Given the description of an element on the screen output the (x, y) to click on. 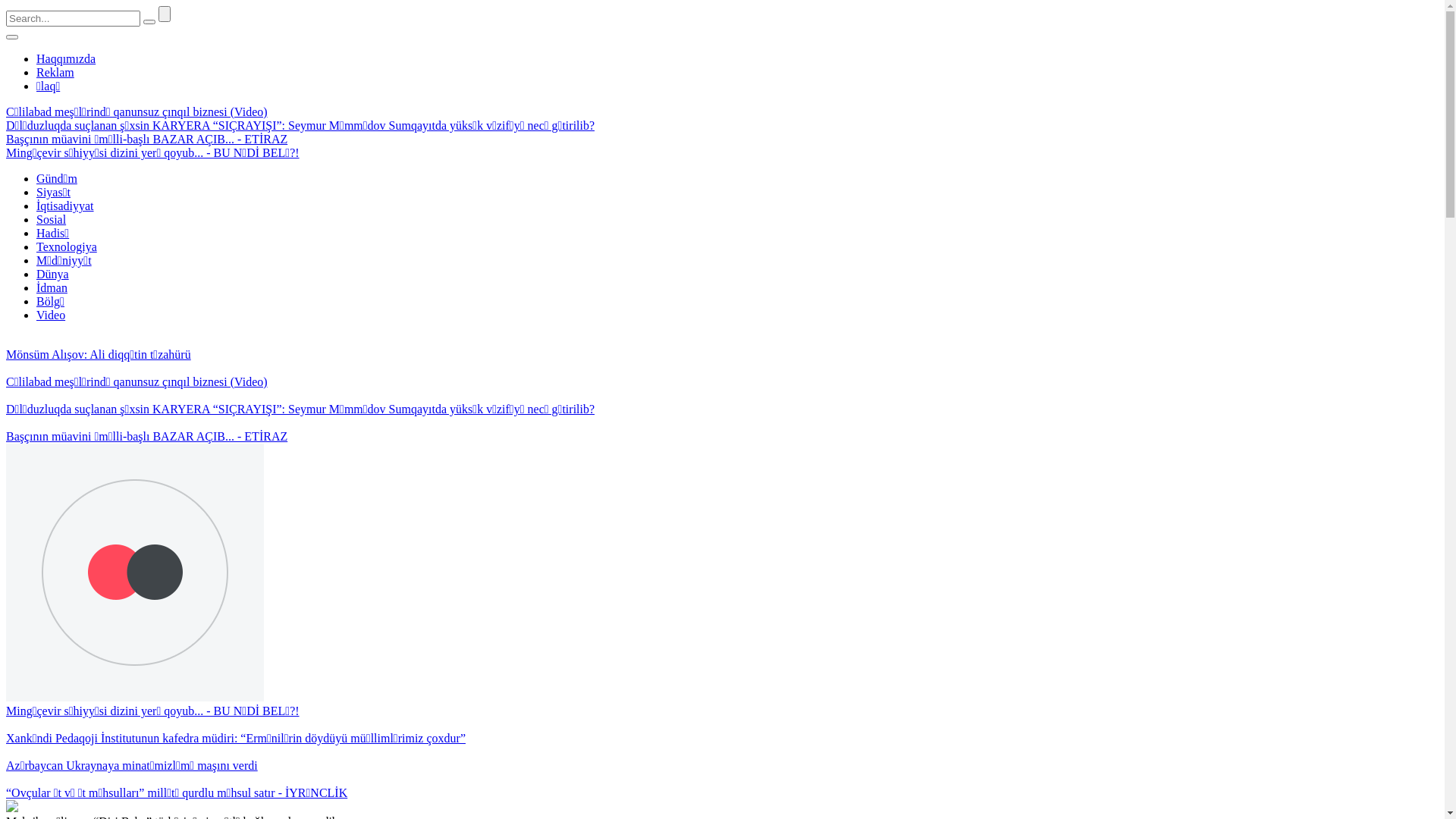
Video Element type: text (50, 314)
Reklam Element type: text (55, 71)
Texnologiya Element type: text (66, 246)
Sosial Element type: text (50, 219)
